Given the description of an element on the screen output the (x, y) to click on. 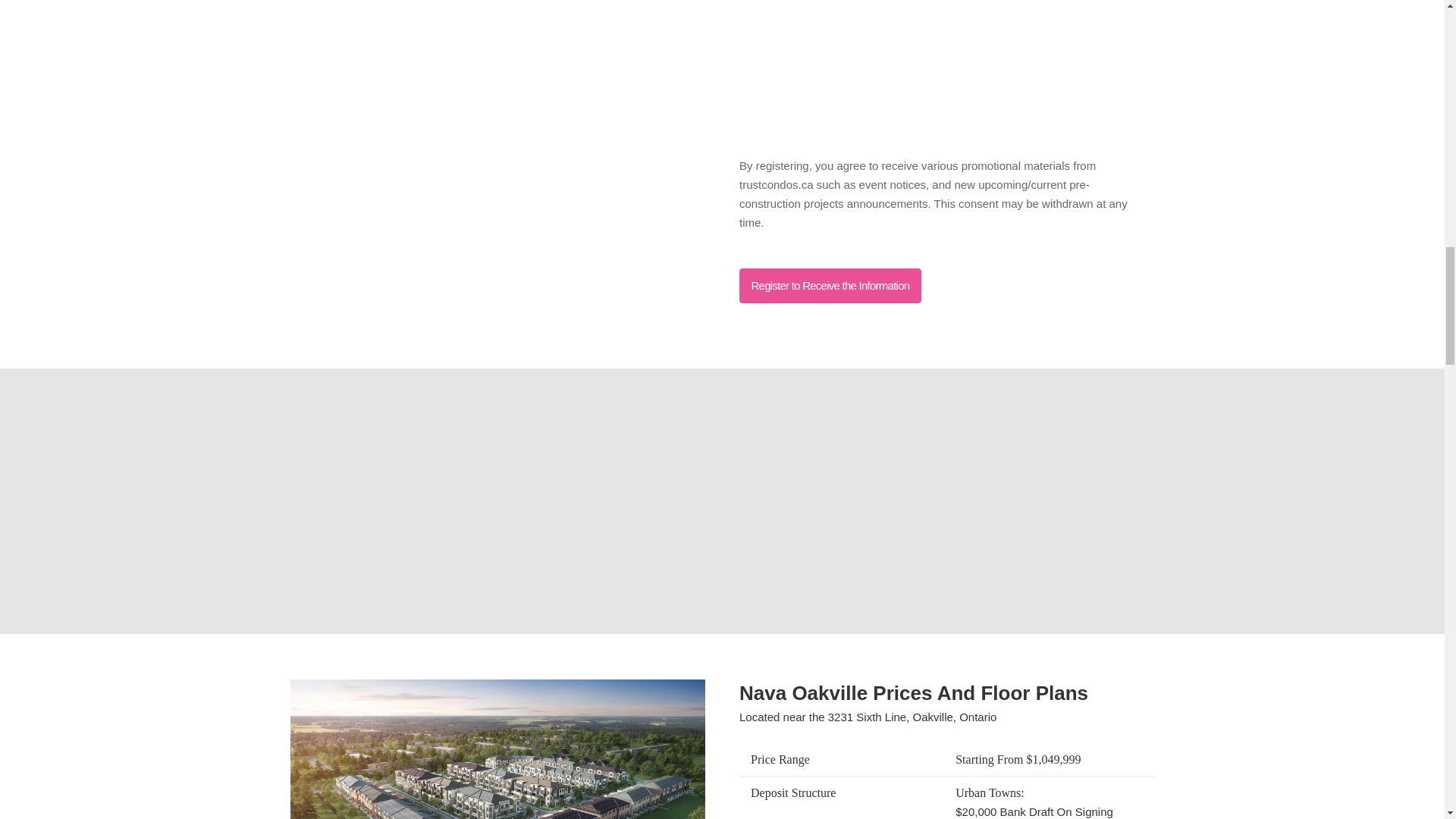
Register to Receive the Information (830, 285)
